Given the description of an element on the screen output the (x, y) to click on. 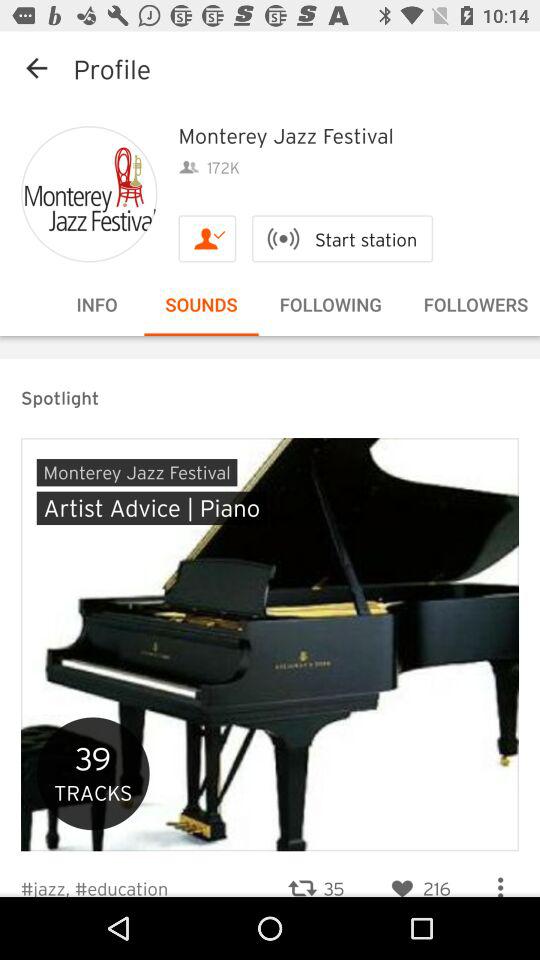
view more options (500, 879)
